Given the description of an element on the screen output the (x, y) to click on. 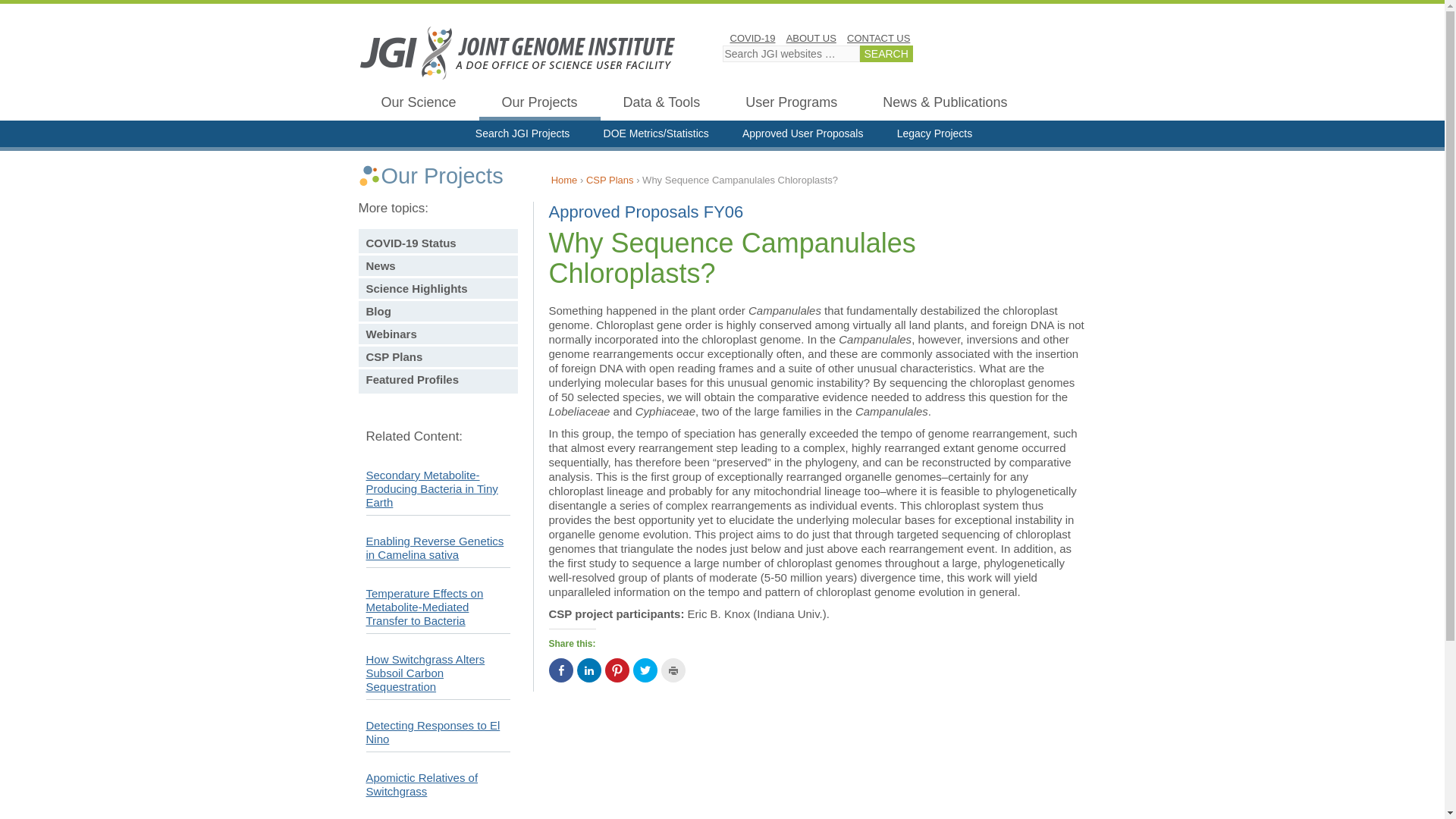
Click to share on Facebook (560, 670)
Apomictic Relatives of Switchgrass (421, 784)
CONTACT US (878, 38)
Click to print (673, 670)
Click to share on Twitter (643, 670)
Click to share on Pinterest (616, 670)
Search (886, 53)
Our Projects (539, 104)
DOE Joint Genome Institute (517, 52)
Secondary Metabolite-Producing Bacteria in Tiny Earth (431, 488)
